Given the description of an element on the screen output the (x, y) to click on. 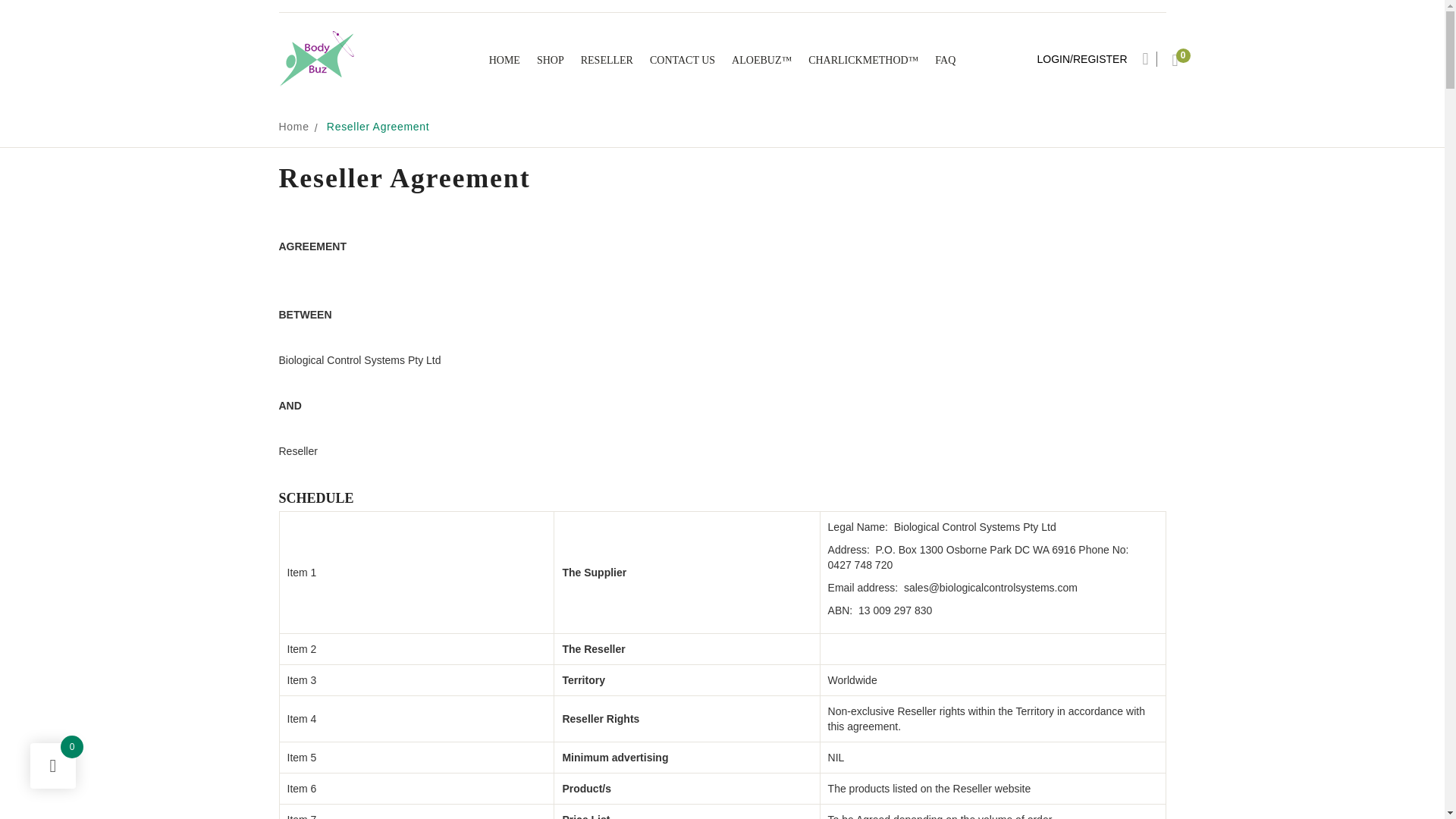
LOGIN/REGISTER Element type: text (1082, 59)
FAQ Element type: text (944, 60)
CONTACT US Element type: text (682, 60)
HOME Element type: text (504, 60)
BodyBuz Element type: hover (316, 59)
SHOP Element type: text (550, 60)
Home Element type: text (294, 126)
0 Element type: text (1175, 58)
RESELLER Element type: text (606, 60)
